Given the description of an element on the screen output the (x, y) to click on. 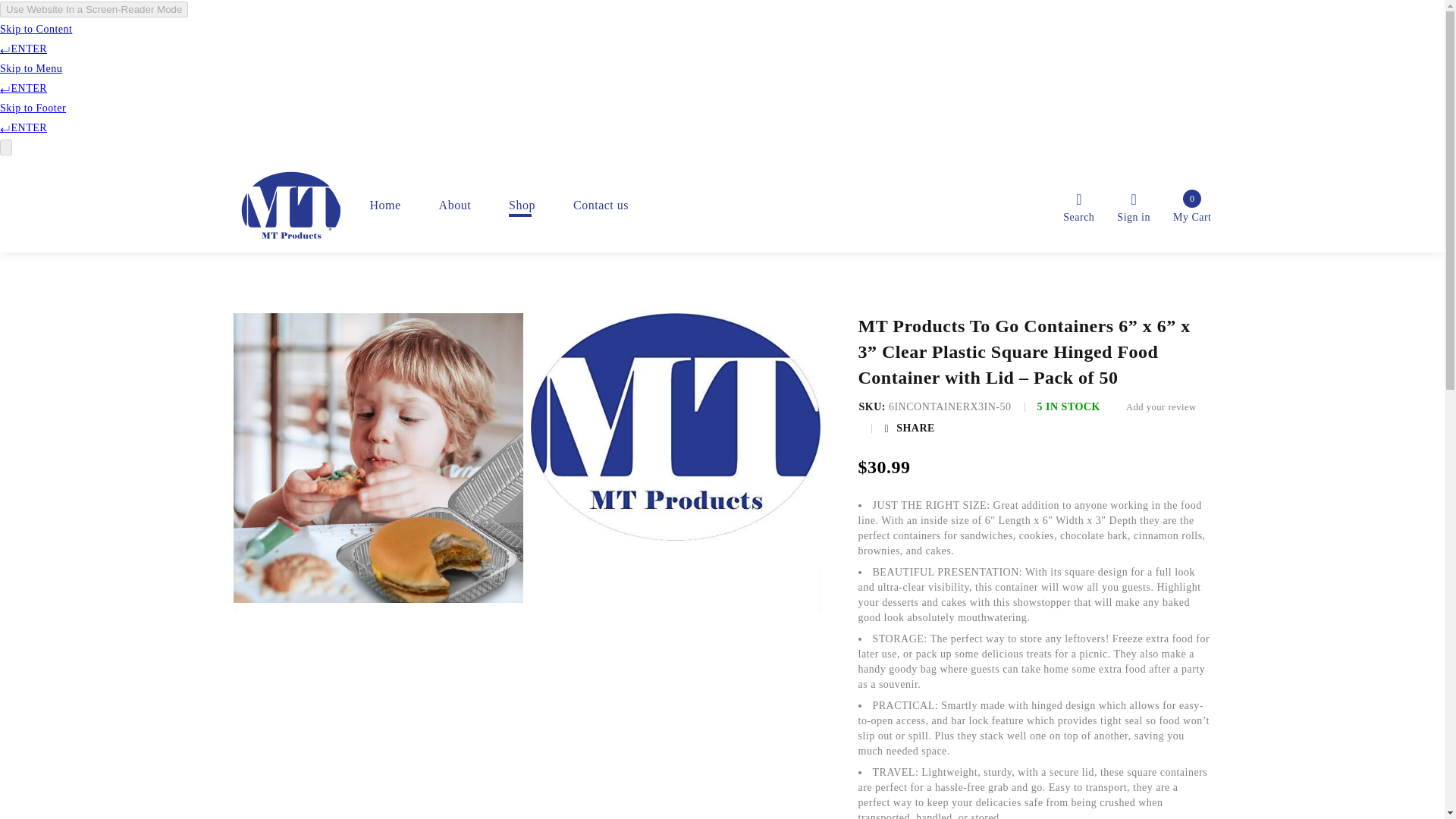
Home (385, 204)
Search (355, 204)
Sign in (1133, 204)
View your shopping cart (1192, 204)
Enzy (1192, 204)
Contact us (289, 210)
About (600, 204)
Sign in (455, 204)
